Given the description of an element on the screen output the (x, y) to click on. 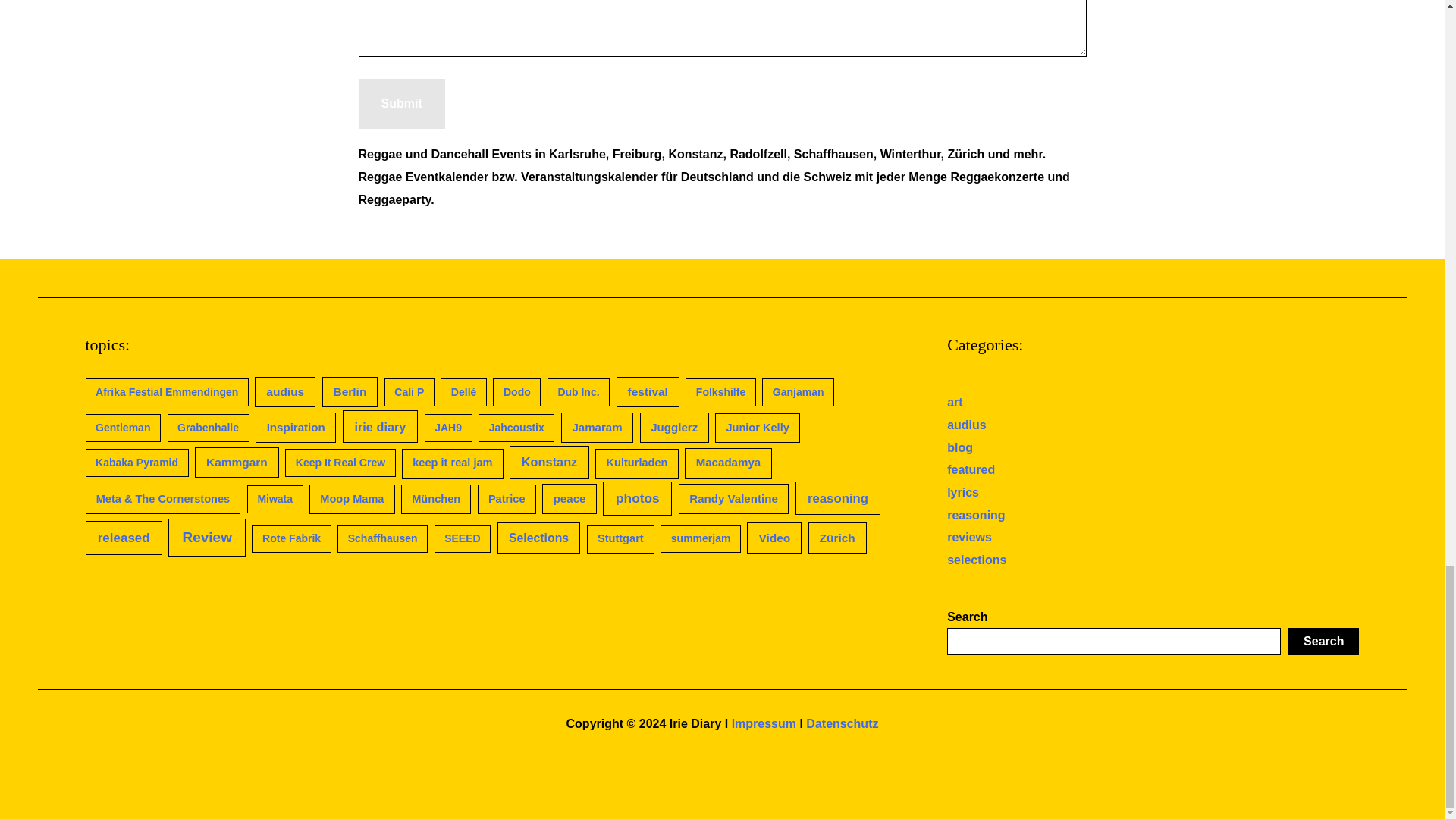
Dodo (516, 392)
Submit (401, 103)
irie diary (379, 426)
Jugglerz (674, 427)
festival (647, 391)
Folkshilfe (720, 392)
Jamaram (596, 427)
Gentleman (122, 428)
Berlin (349, 391)
audius (284, 391)
Ganjaman (797, 392)
Submit (401, 103)
Jahcoustix (516, 428)
Inspiration (296, 427)
Afrika Festial Emmendingen (165, 392)
